Given the description of an element on the screen output the (x, y) to click on. 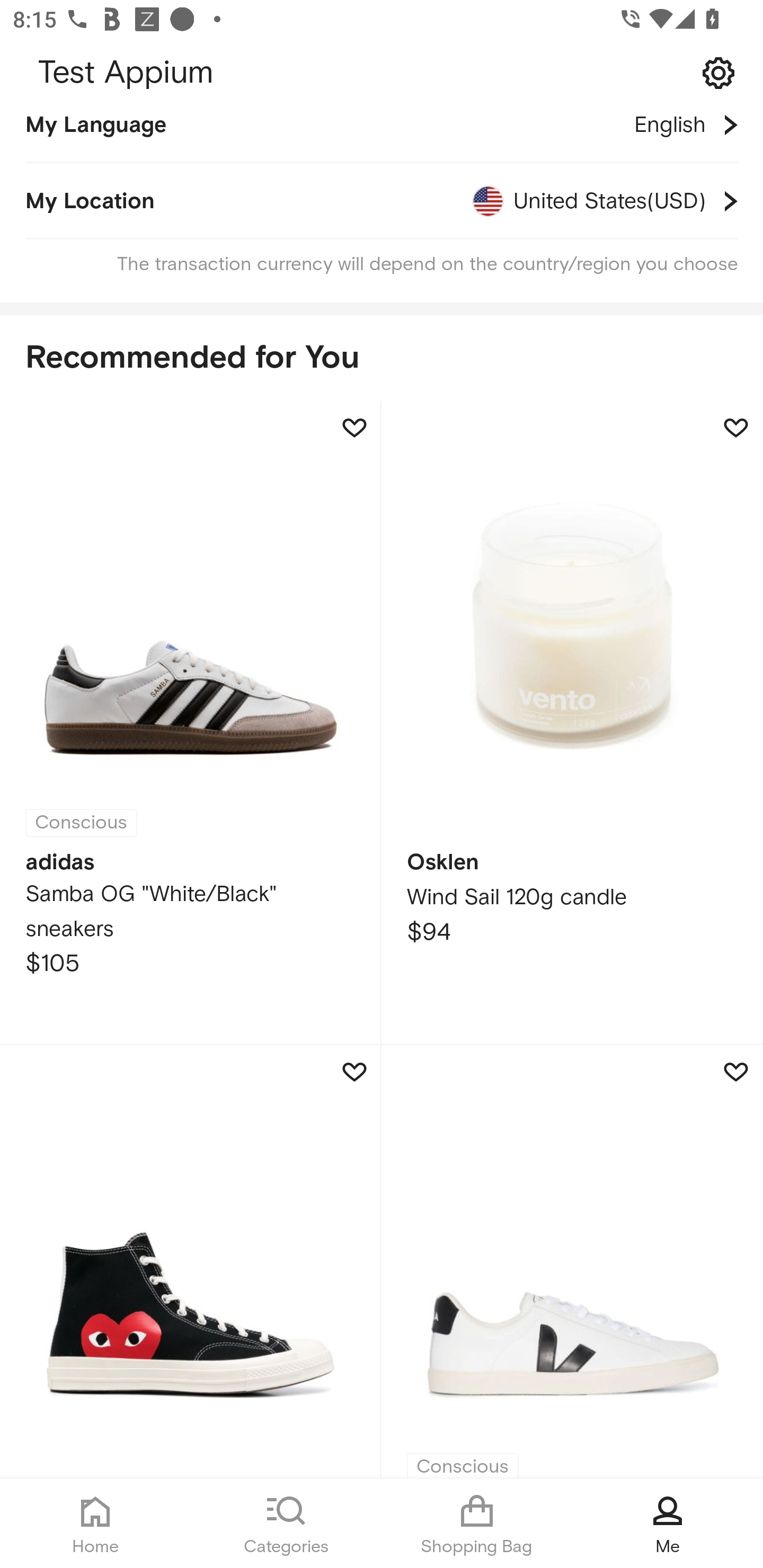
Test Appium (381, 72)
My Language English (381, 137)
My Location United States(USD) (381, 201)
Osklen Wind Sail 120g candle $94 (572, 723)
Conscious (572, 1261)
Home (95, 1523)
Categories (285, 1523)
Shopping Bag (476, 1523)
